Given the description of an element on the screen output the (x, y) to click on. 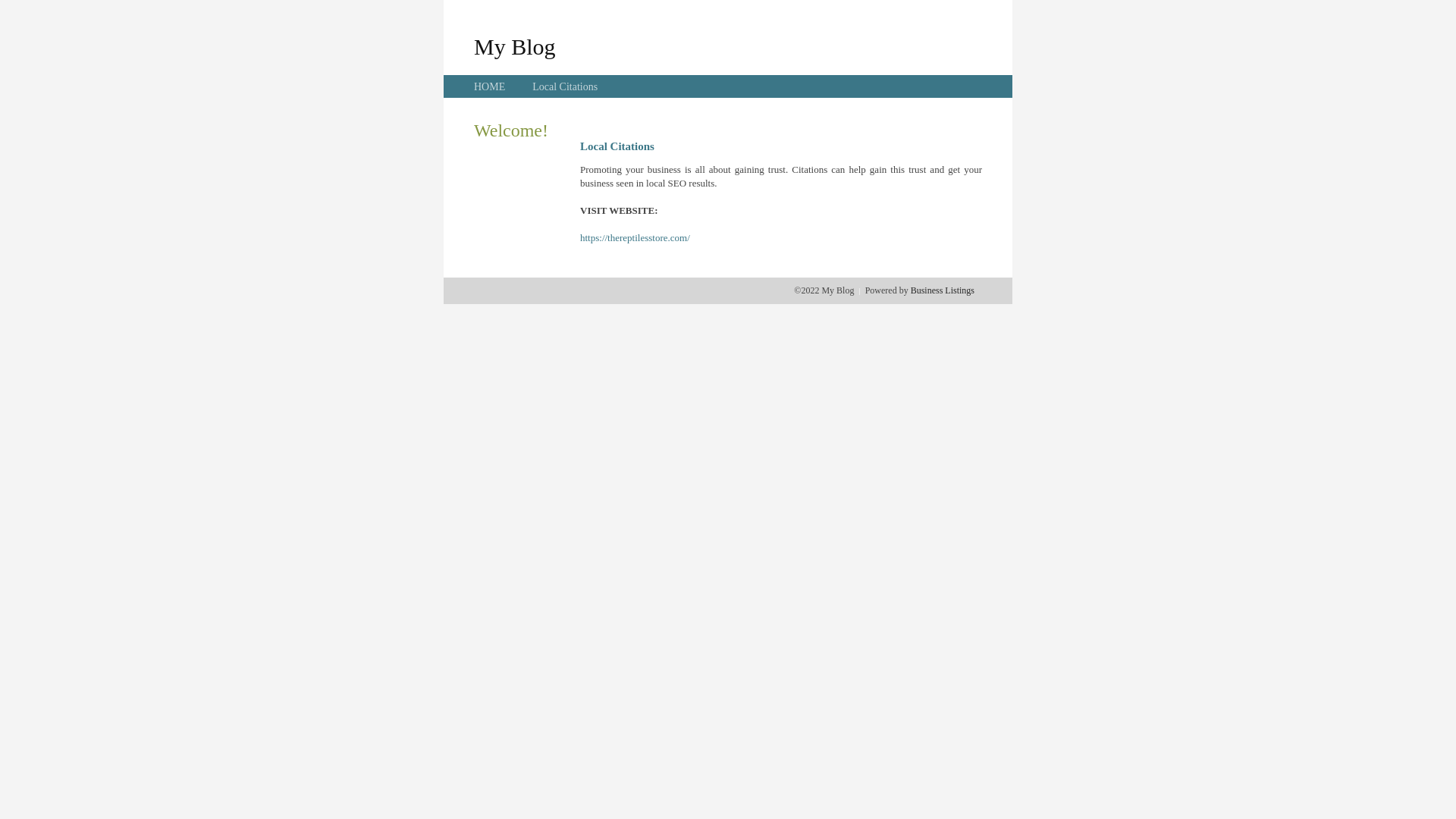
HOME Element type: text (489, 86)
https://thereptilesstore.com/ Element type: text (635, 237)
Local Citations Element type: text (564, 86)
My Blog Element type: text (514, 46)
Business Listings Element type: text (942, 290)
